Given the description of an element on the screen output the (x, y) to click on. 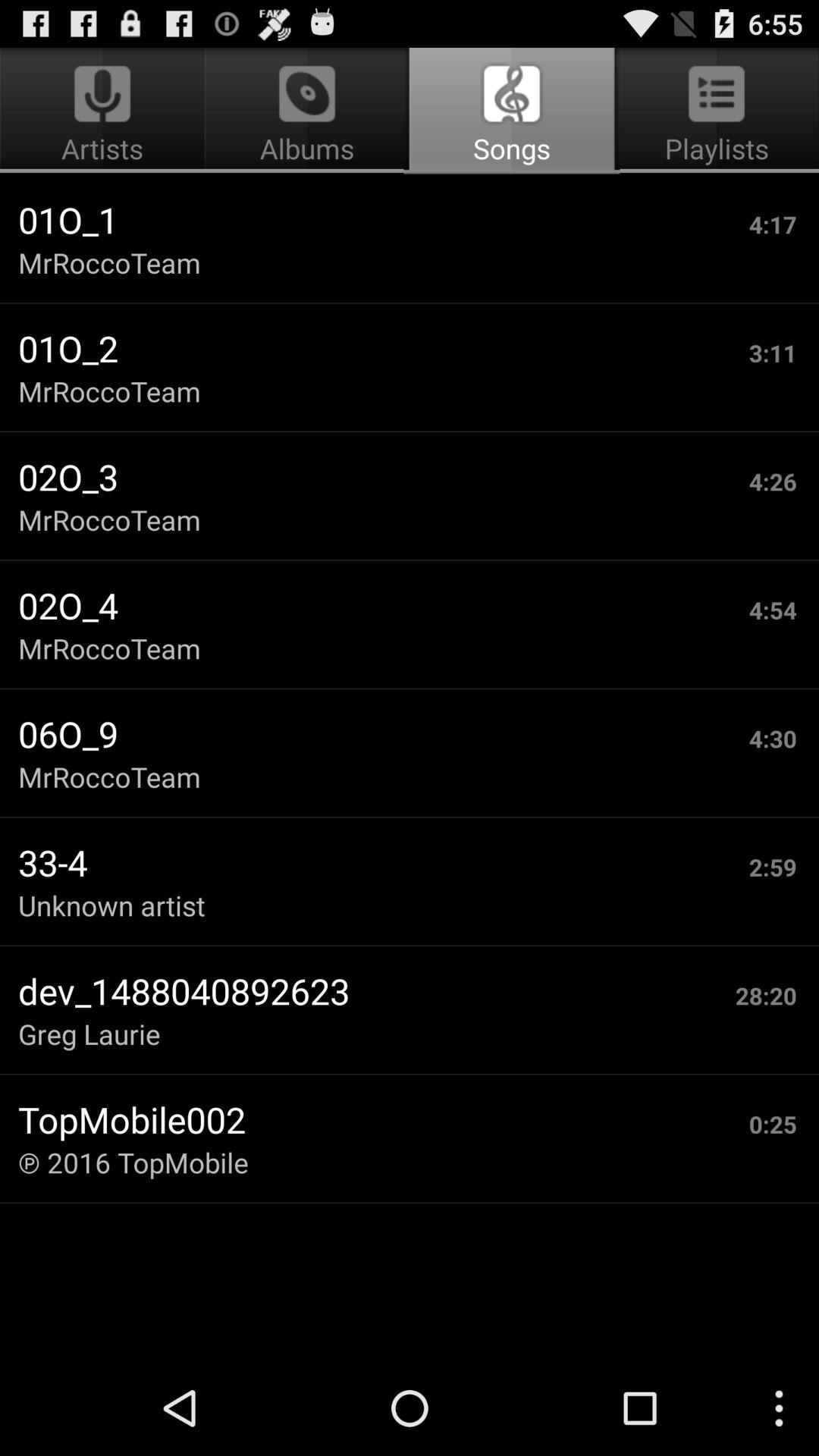
flip until artists icon (105, 111)
